Given the description of an element on the screen output the (x, y) to click on. 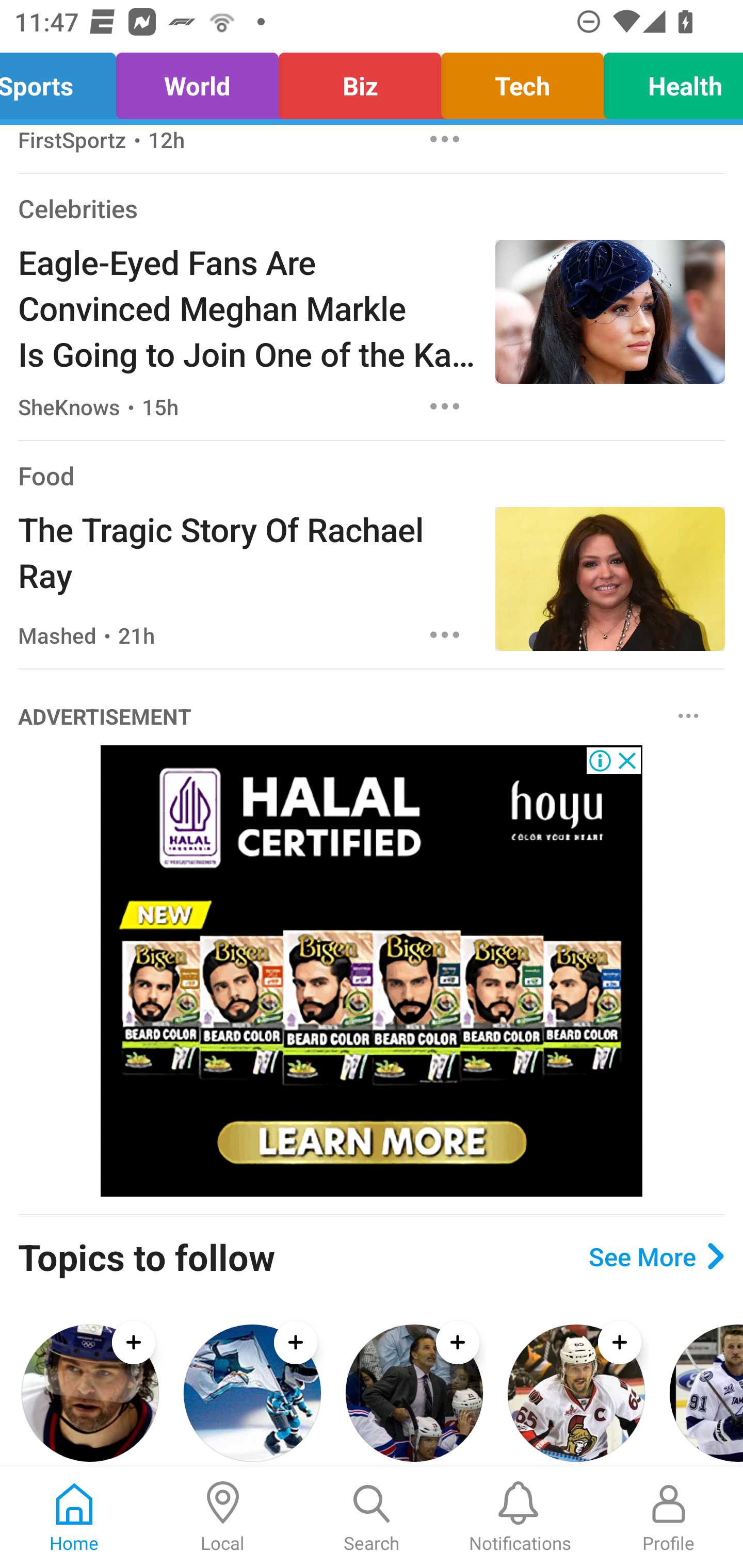
Sports (63, 81)
World (197, 81)
Biz (359, 81)
Tech (522, 81)
Health (667, 81)
Options (444, 143)
Celebrities (77, 208)
Options (444, 406)
Food (46, 474)
Options (444, 634)
Options (688, 715)
28 (371, 970)
See More (656, 1255)
Local (222, 1517)
Search (371, 1517)
Notifications (519, 1517)
Profile (668, 1517)
